Given the description of an element on the screen output the (x, y) to click on. 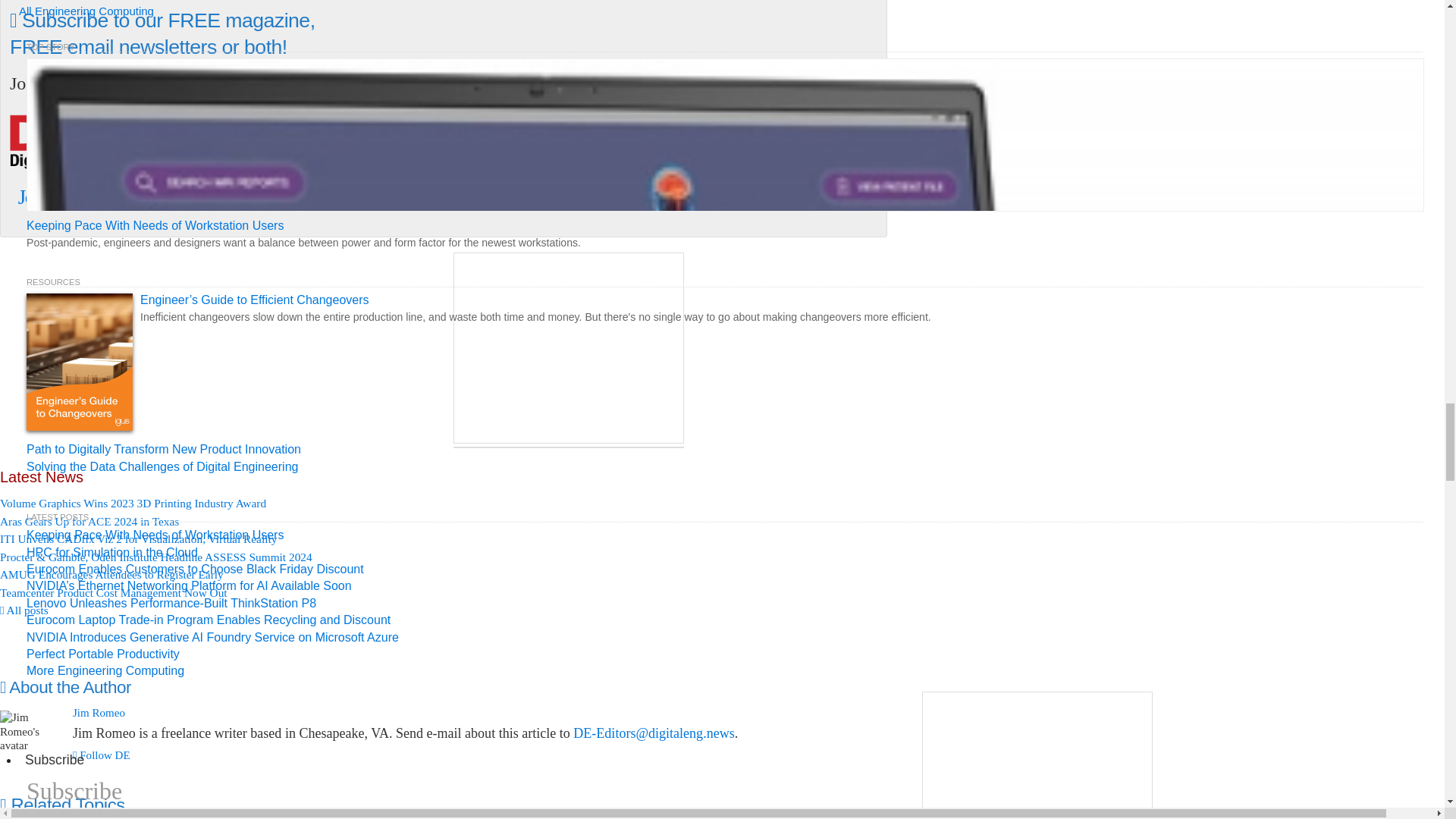
3rd party ad content (1037, 755)
